Given the description of an element on the screen output the (x, y) to click on. 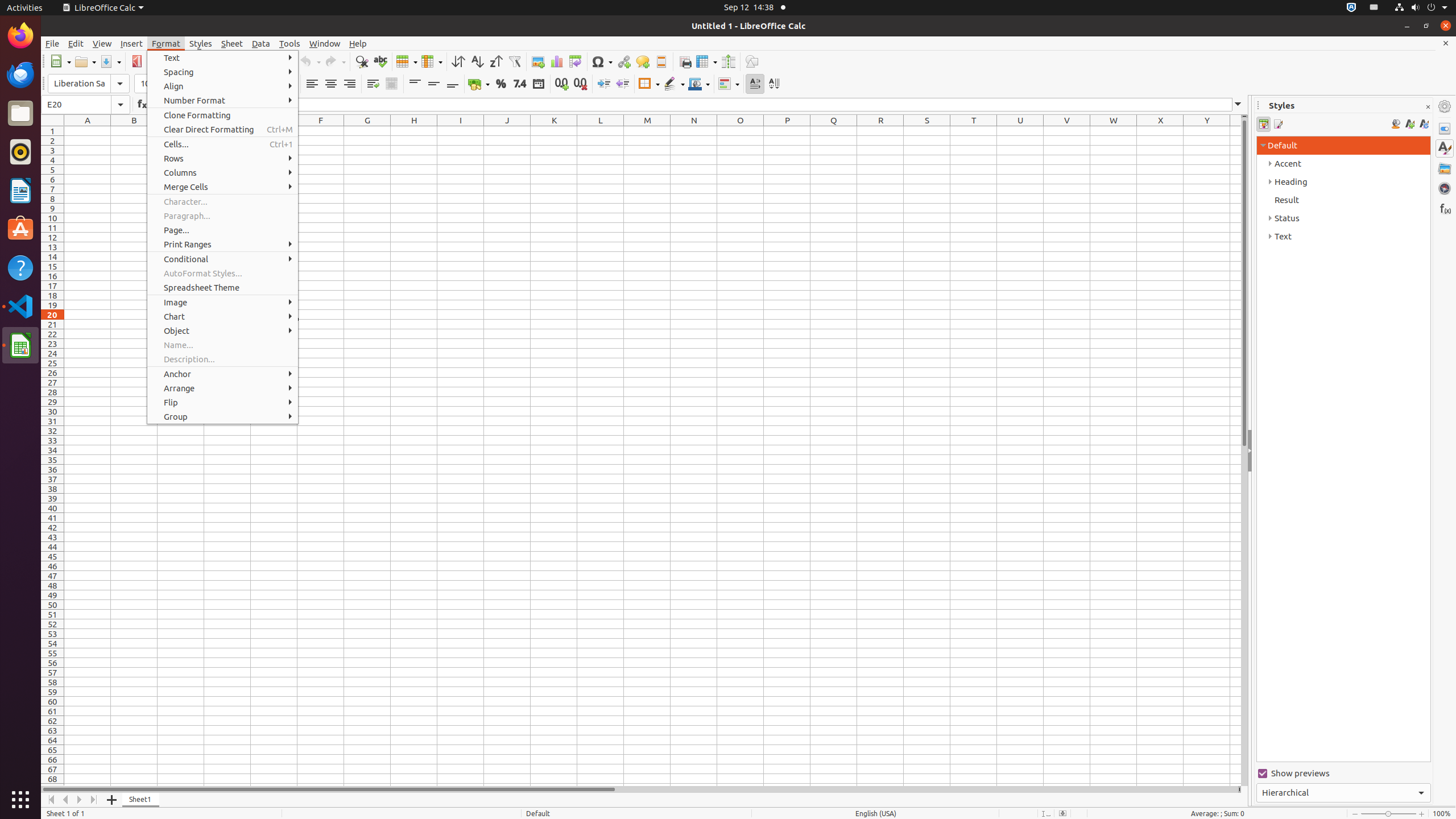
Currency Element type: push-button (478, 83)
Conditional Element type: push-button (728, 83)
Spreadsheet Theme Element type: menu-item (222, 287)
Pivot Table Element type: push-button (574, 61)
Files Element type: push-button (20, 113)
